Given the description of an element on the screen output the (x, y) to click on. 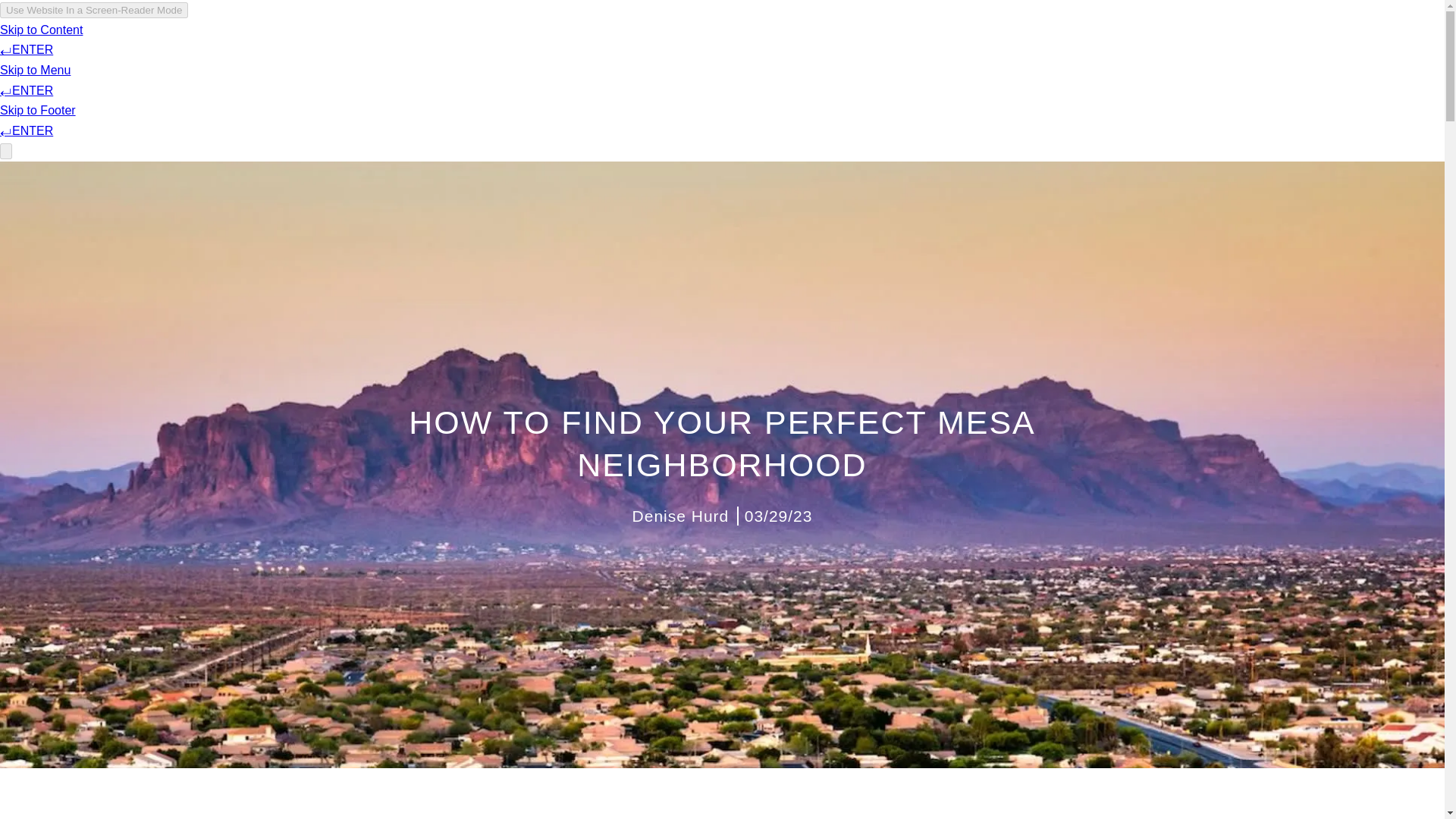
HOME SEARCH (936, 55)
PORTFOLIO (839, 55)
LET'S CONNECT (1046, 55)
